Given the description of an element on the screen output the (x, y) to click on. 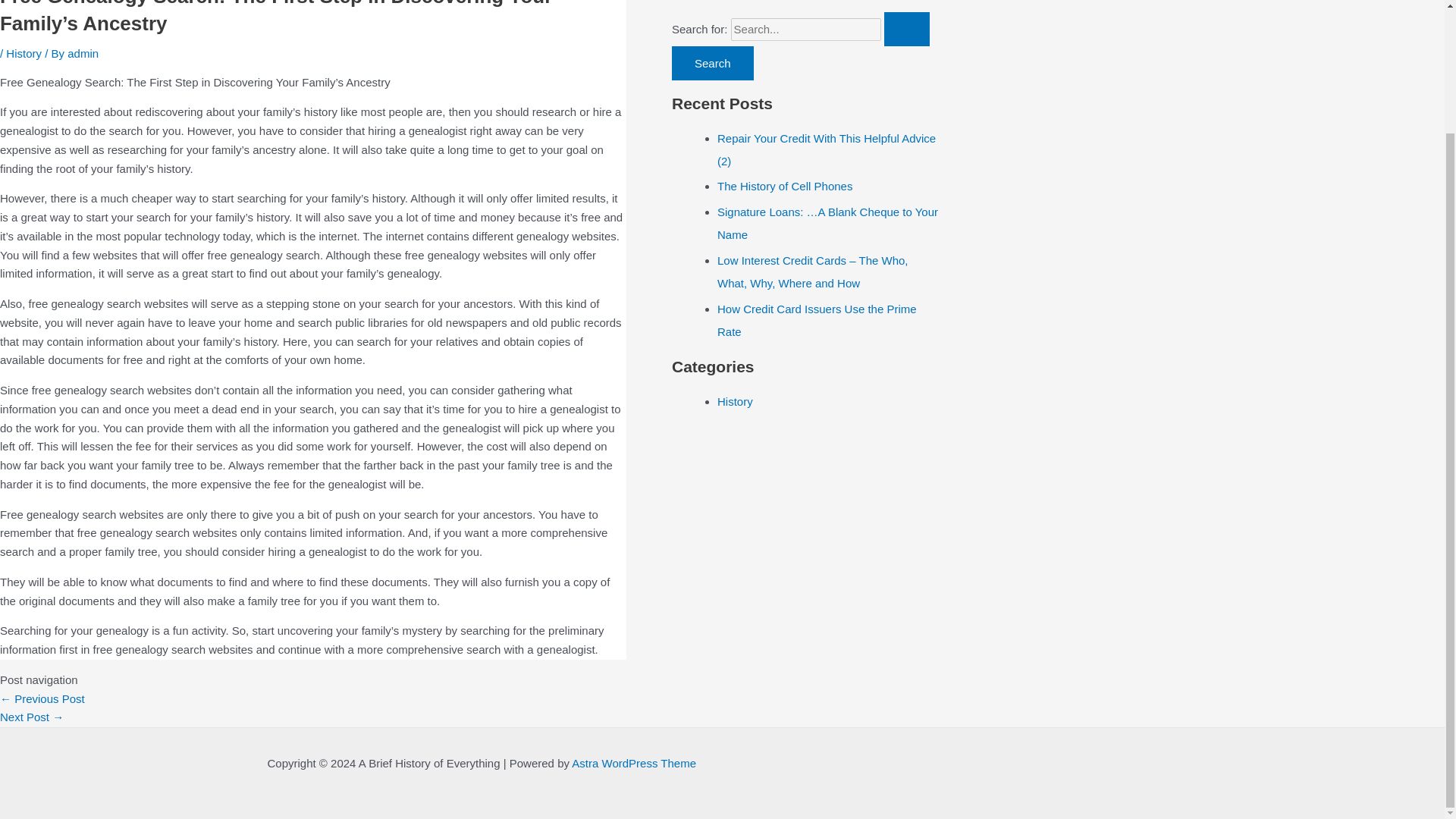
admin (82, 52)
How Credit Card Issuers Use the Prime Rate (817, 320)
Search (712, 62)
The History of Cell Phones (784, 185)
History (734, 400)
Search (712, 62)
Credit Score Meaning-A Report For Lenders (42, 698)
History (23, 52)
CLEPP Exam (32, 716)
View all posts by admin (82, 52)
